Given the description of an element on the screen output the (x, y) to click on. 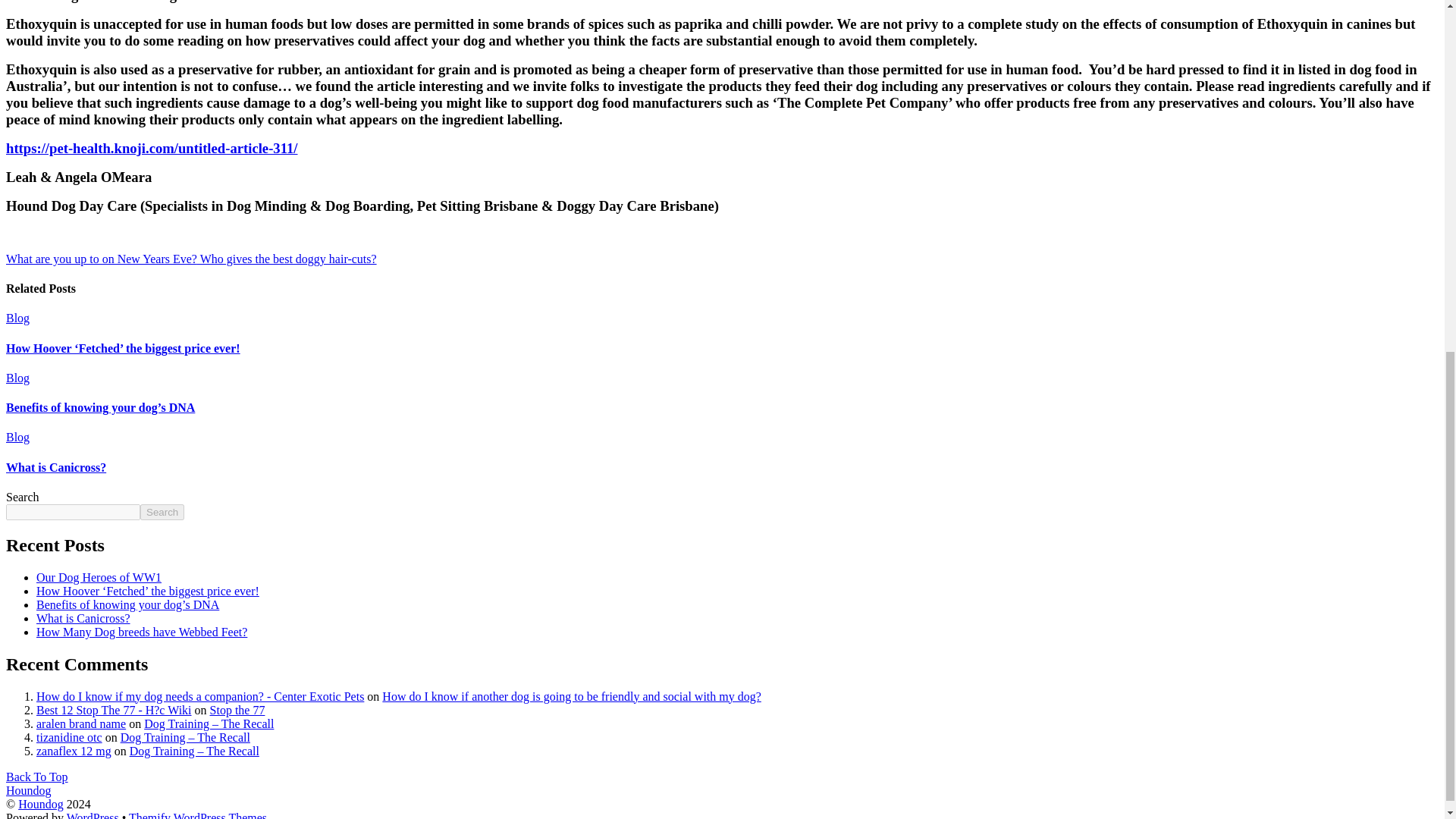
Houndog (27, 789)
What is Canicross? (83, 617)
Stop the 77 (236, 709)
tizanidine otc (68, 737)
zanaflex 12 mg (74, 750)
Search (161, 512)
What are you up to on New Years Eve? (100, 258)
Blog (17, 318)
What is Canicross? (55, 467)
aralen brand name (80, 723)
Best 12 Stop The 77 - H?c Wiki (114, 709)
Blog (17, 377)
Our Dog Heroes of WW1 (98, 576)
